Given the description of an element on the screen output the (x, y) to click on. 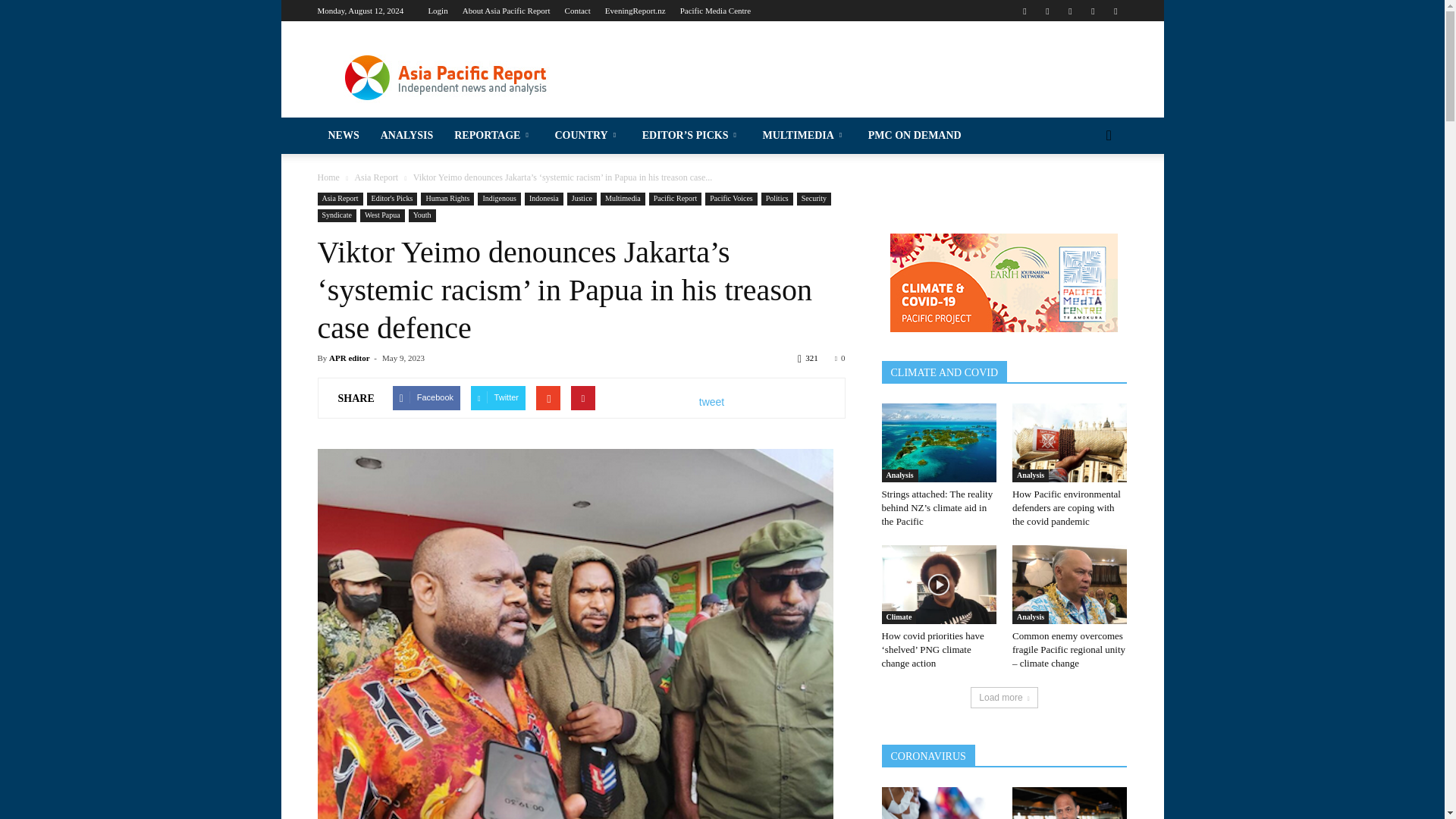
CLOSE (140, 20)
REPORTAGE (140, 125)
Facebook (1024, 10)
Asia Pacific Report (445, 76)
RSS (1069, 10)
COUNTRY (140, 160)
NEWS (140, 57)
Youtube (1114, 10)
ANALYSIS (140, 91)
Twitter (1092, 10)
